Given the description of an element on the screen output the (x, y) to click on. 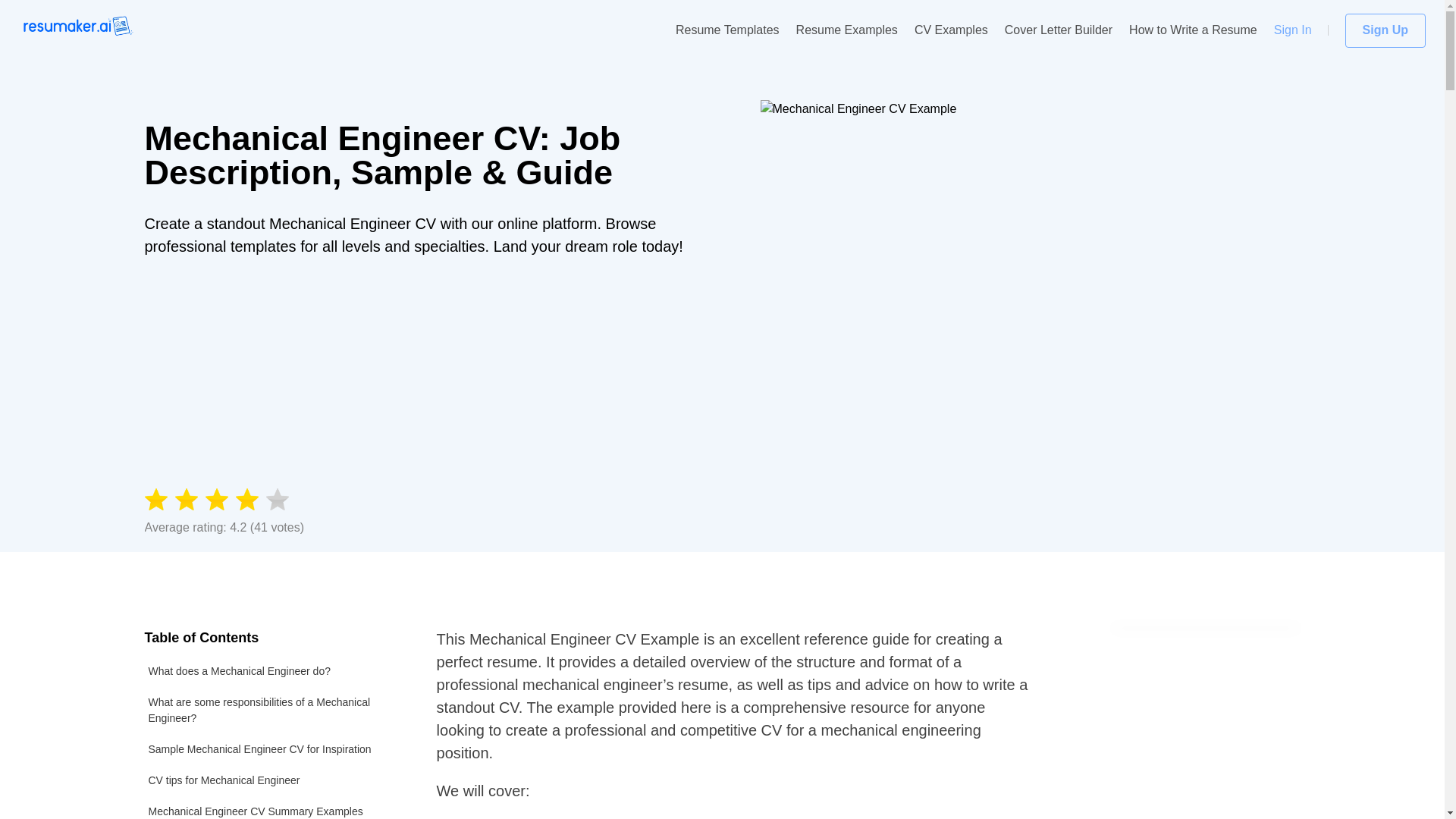
Mechanical Engineer CV Summary Examples (270, 807)
Resume Templates (726, 30)
How to Write a Resume (1193, 30)
Cover Letter Builder (1058, 30)
CV Examples (951, 30)
What are some responsibilities of a Mechanical Engineer? (270, 710)
Resume Examples (847, 30)
CV tips for Mechanical Engineer (270, 780)
What does a Mechanical Engineer do? (270, 671)
Sample Mechanical Engineer CV for Inspiration (270, 748)
